Given the description of an element on the screen output the (x, y) to click on. 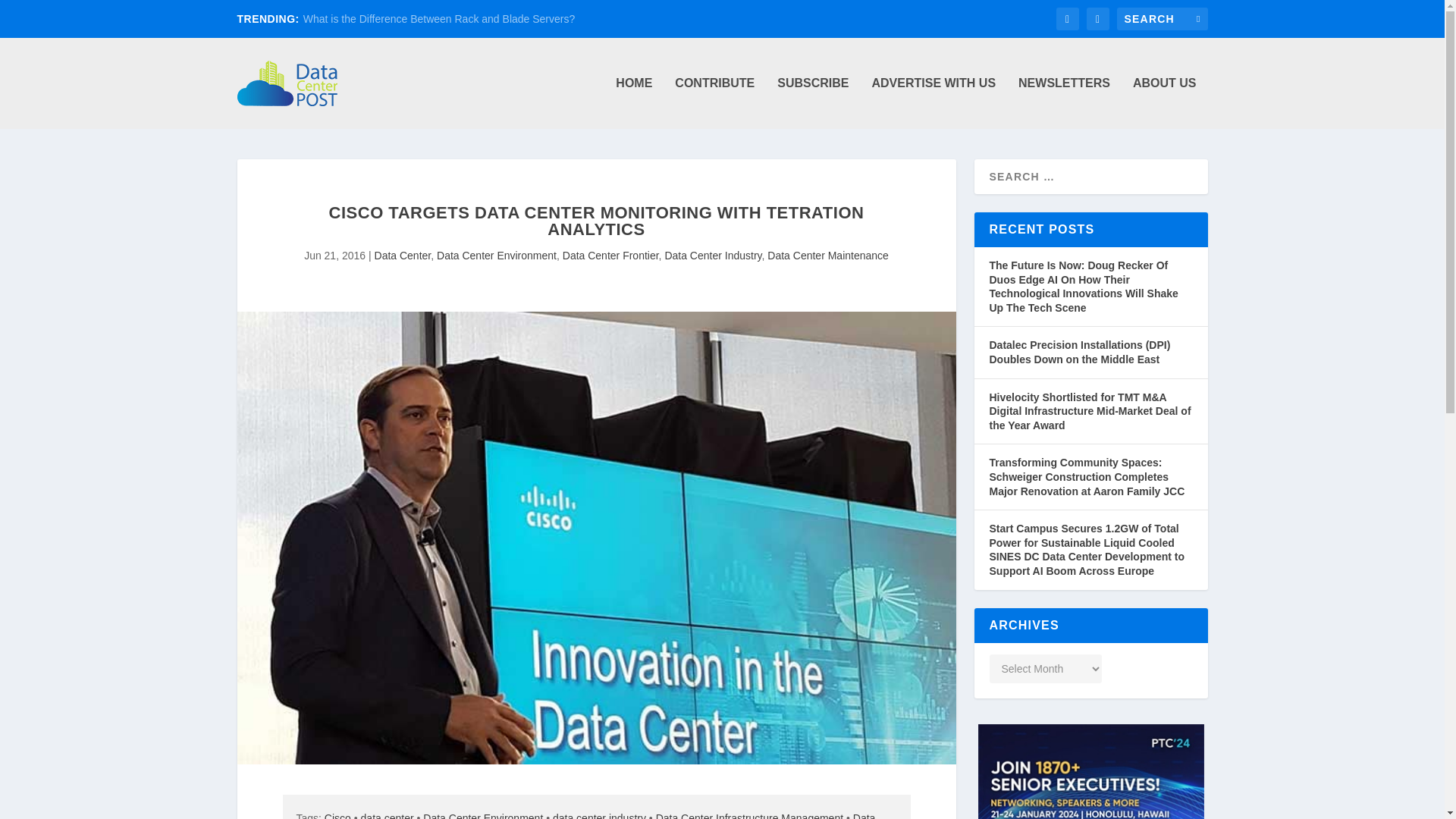
Data Center Maintenance (585, 815)
ABOUT US (1164, 102)
Data Center Maintenance (827, 255)
ADVERTISE WITH US (932, 102)
CONTRIBUTE (714, 102)
SUBSCRIBE (812, 102)
Data Center (402, 255)
NEWSLETTERS (1063, 102)
Data Center Industry (712, 255)
What is the Difference Between Rack and Blade Servers? (438, 19)
